Given the description of an element on the screen output the (x, y) to click on. 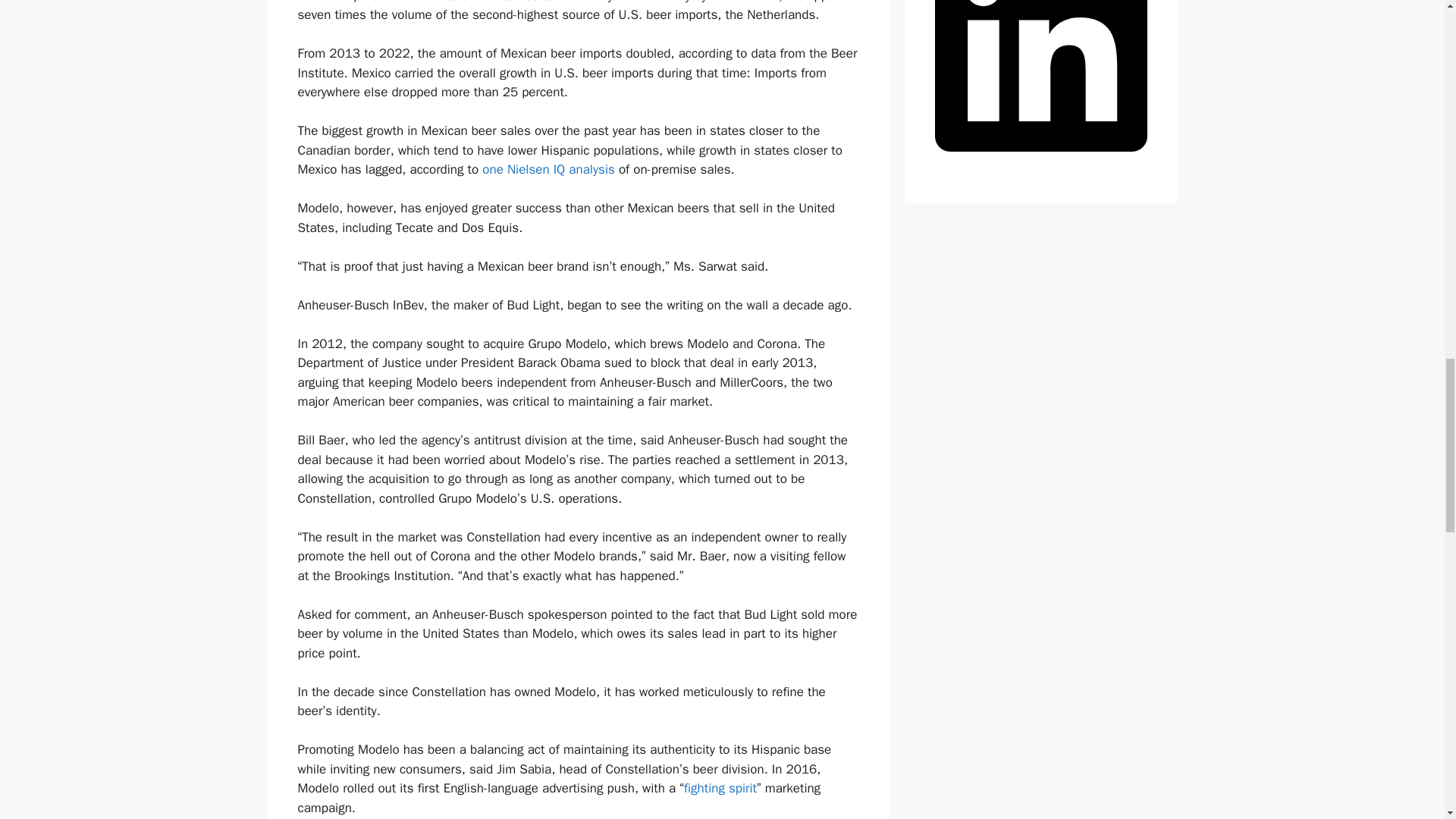
fighting spirit (720, 788)
one Nielsen IQ analysis (547, 169)
